Given the description of an element on the screen output the (x, y) to click on. 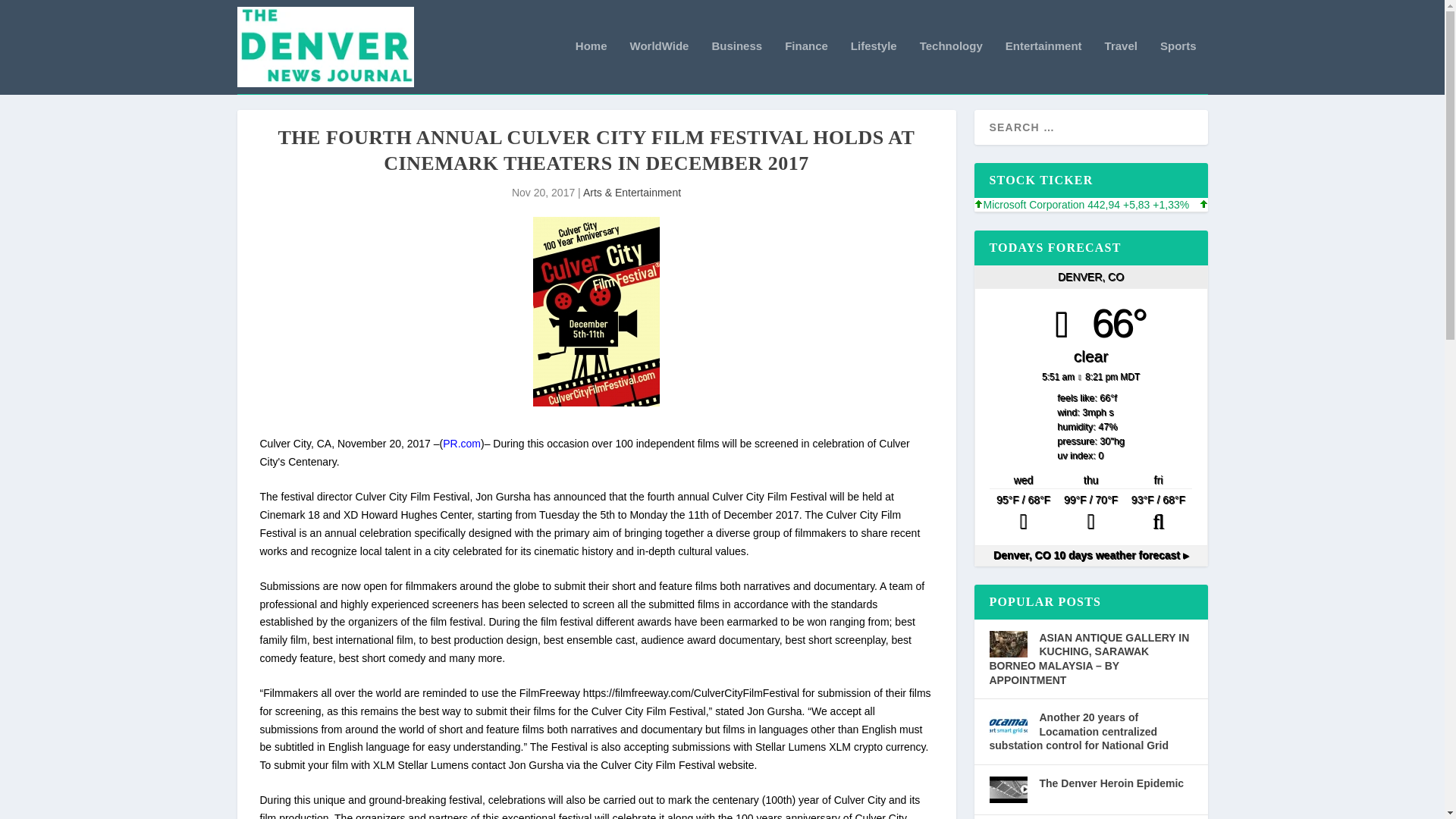
PR.com (461, 443)
Business (736, 67)
Technology (951, 67)
Mostly Sunny (1023, 513)
WorldWide (659, 67)
Entertainment (1043, 67)
Mostly Cloudy (1158, 513)
Mostly Sunny (1090, 513)
